Given the description of an element on the screen output the (x, y) to click on. 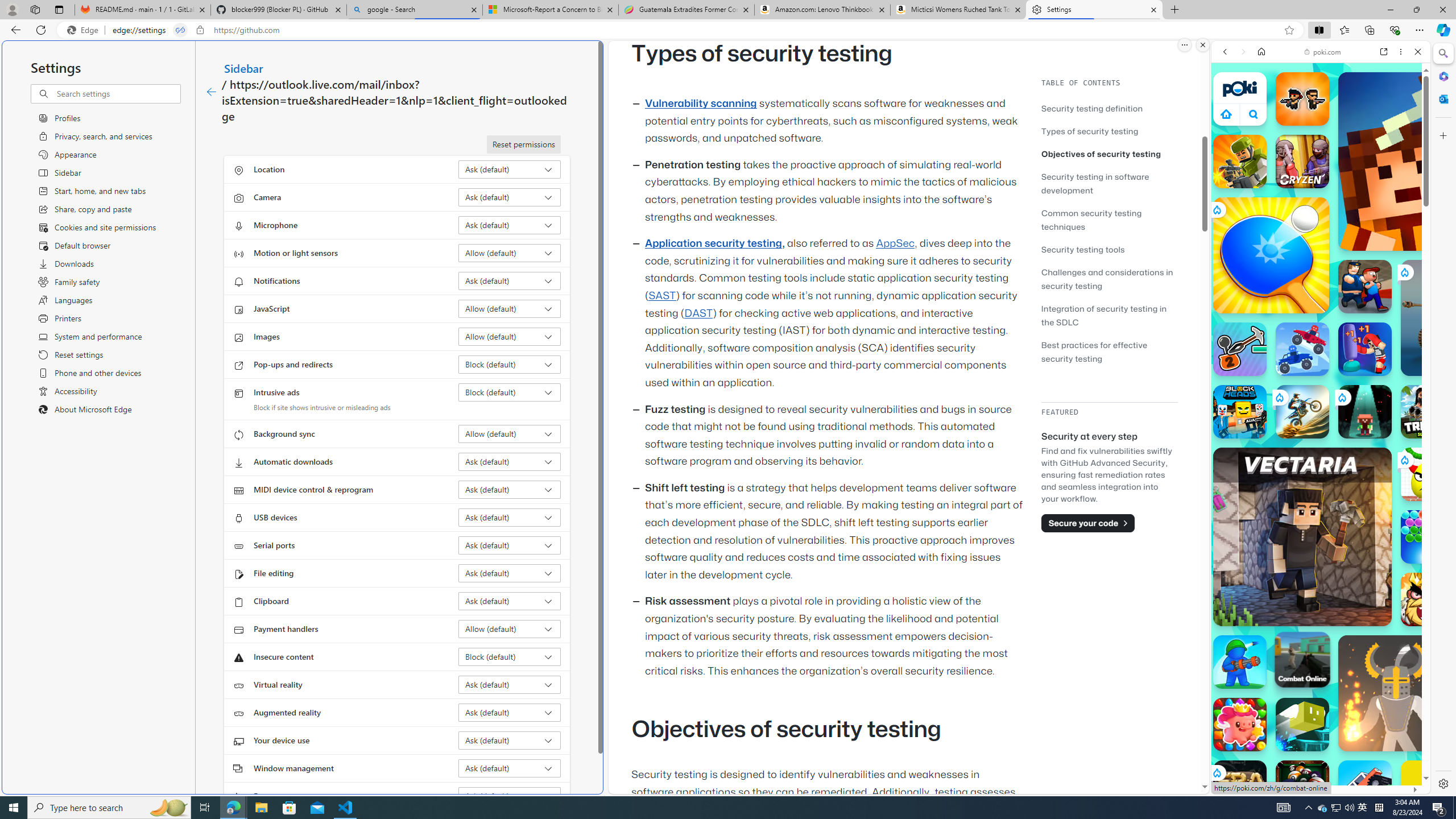
Combat Online (1302, 659)
Car Games (1320, 267)
8 Ball Pool With Buddies (1302, 787)
BombHopper.io (1302, 724)
Security testing tools (1109, 249)
8 Ball Pool With Buddies 8 Ball Pool With Buddies (1302, 787)
Hills of Steel (1264, 580)
Kour.io Kour.io (1239, 161)
Best practices for effective security testing (1094, 351)
Reset permissions (523, 144)
AppSec (895, 243)
Hills of Steel (1253, 574)
